Given the description of an element on the screen output the (x, y) to click on. 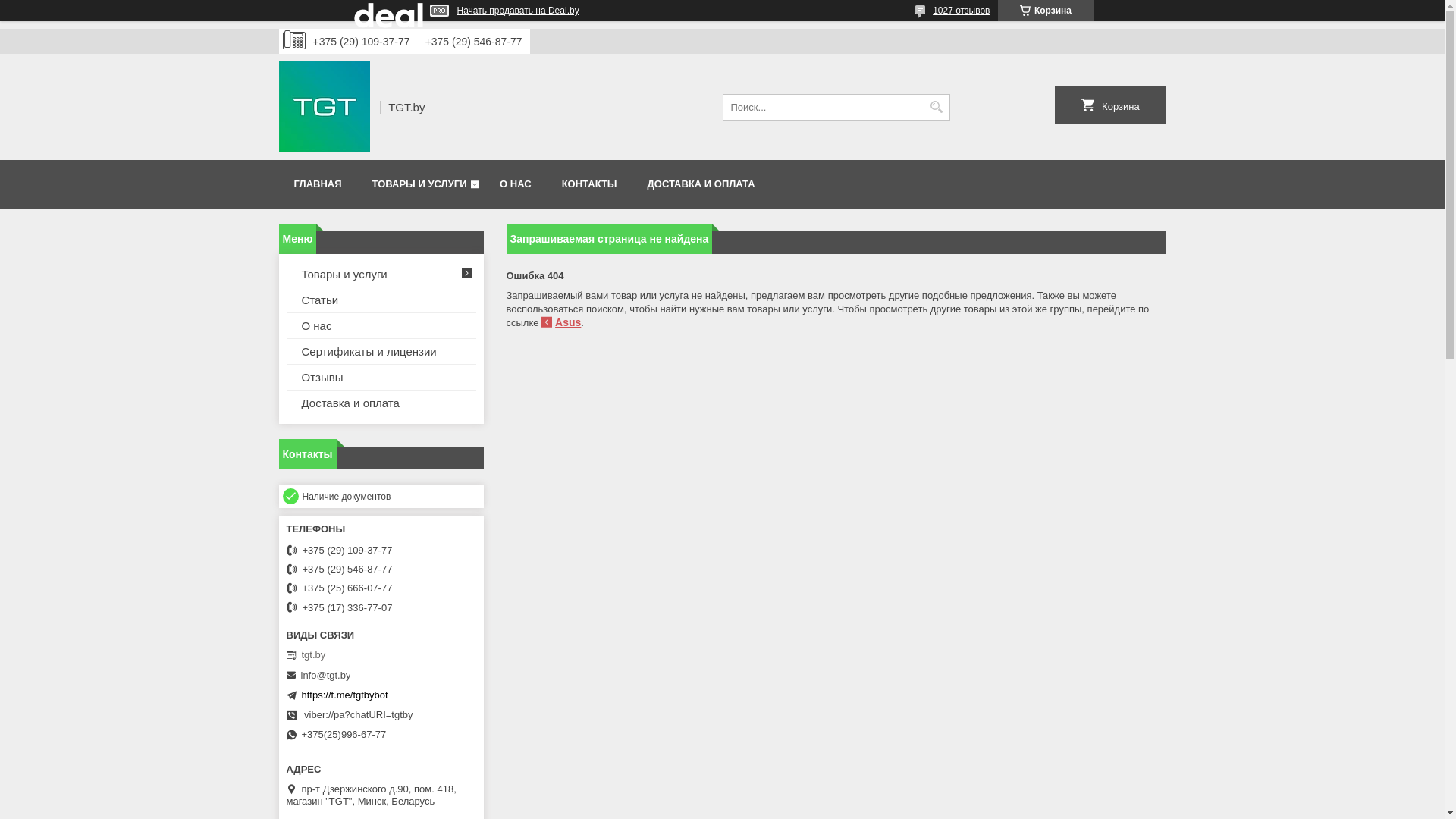
https://t.me/tgtbybot Element type: text (344, 694)
tgt.by Element type: text (377, 655)
info@tgt.by Element type: text (325, 675)
Asus Element type: text (560, 322)
